Given the description of an element on the screen output the (x, y) to click on. 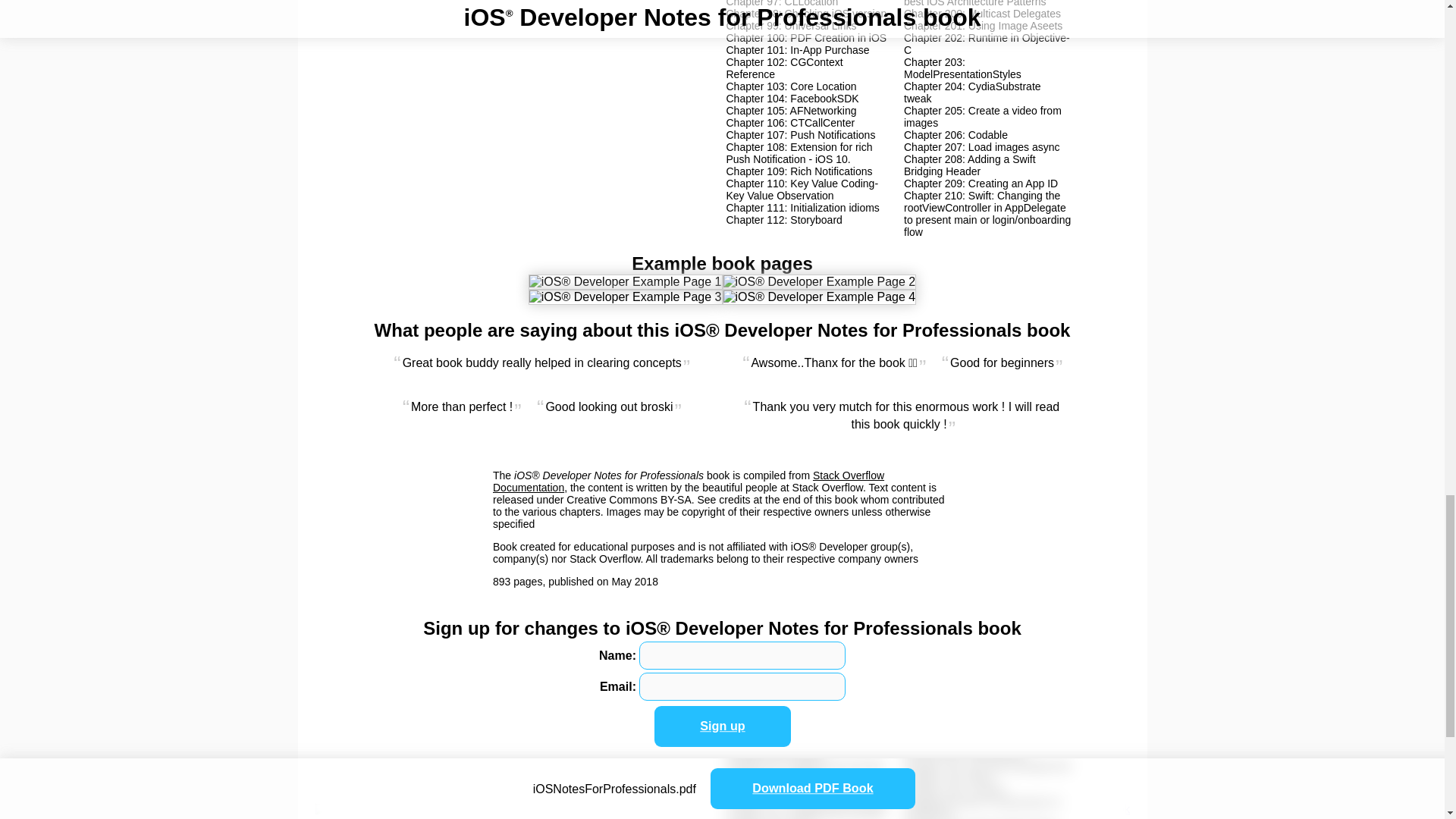
Sign up (729, 728)
Stack Overflow Documentation (688, 481)
